Given the description of an element on the screen output the (x, y) to click on. 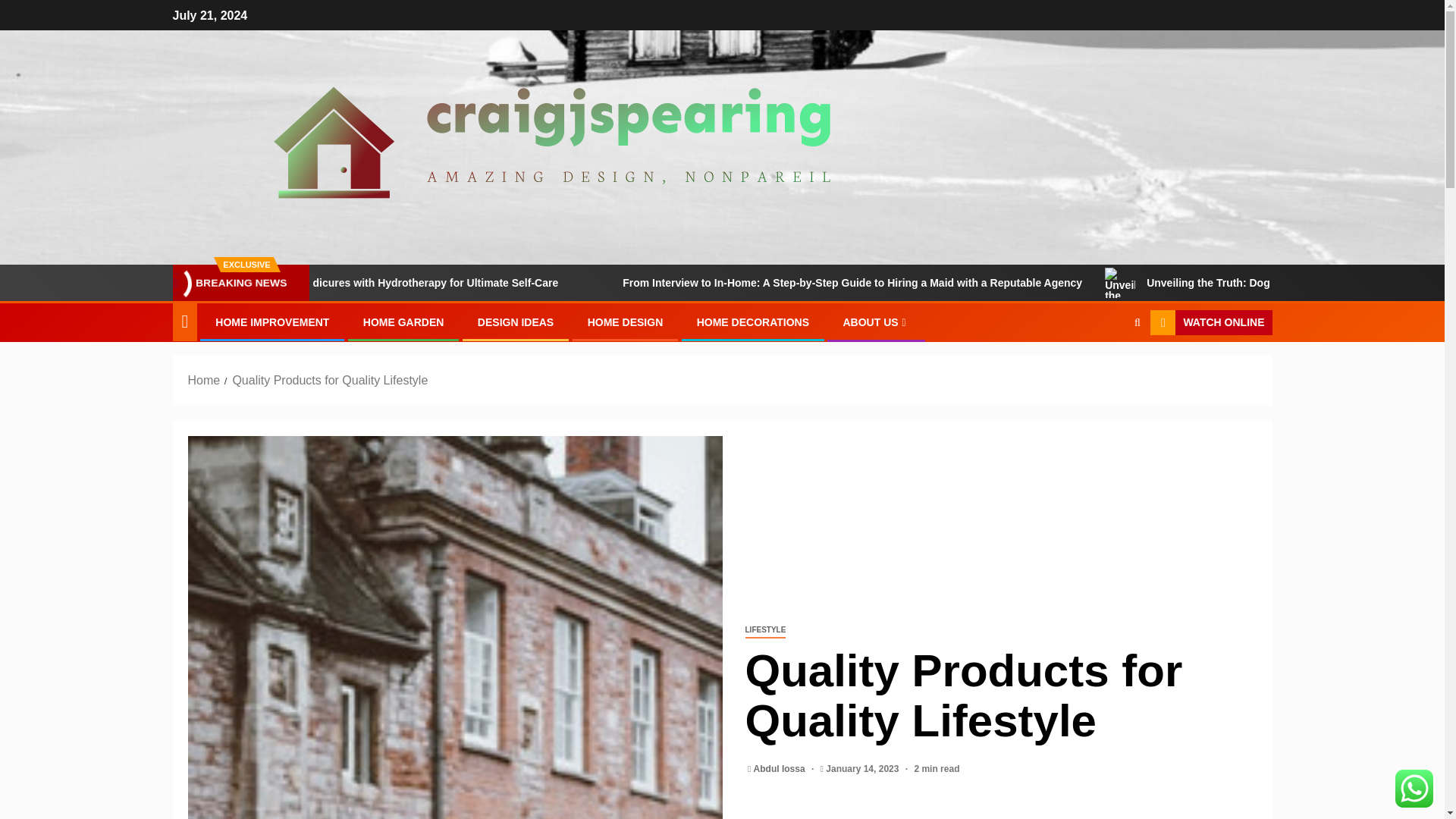
LIFESTYLE (765, 630)
Abdul Iossa (781, 768)
Combining Pedicures with Hydrotherapy for Ultimate Self-Care (500, 282)
Search (1107, 369)
Home (204, 379)
HOME DESIGN (625, 322)
HOME DECORATIONS (753, 322)
HOME GARDEN (403, 322)
DESIGN IDEAS (515, 322)
ABOUT US (875, 322)
HOME IMPROVEMENT (272, 322)
WATCH ONLINE (1210, 322)
Quality Products for Quality Lifestyle (329, 379)
